Given the description of an element on the screen output the (x, y) to click on. 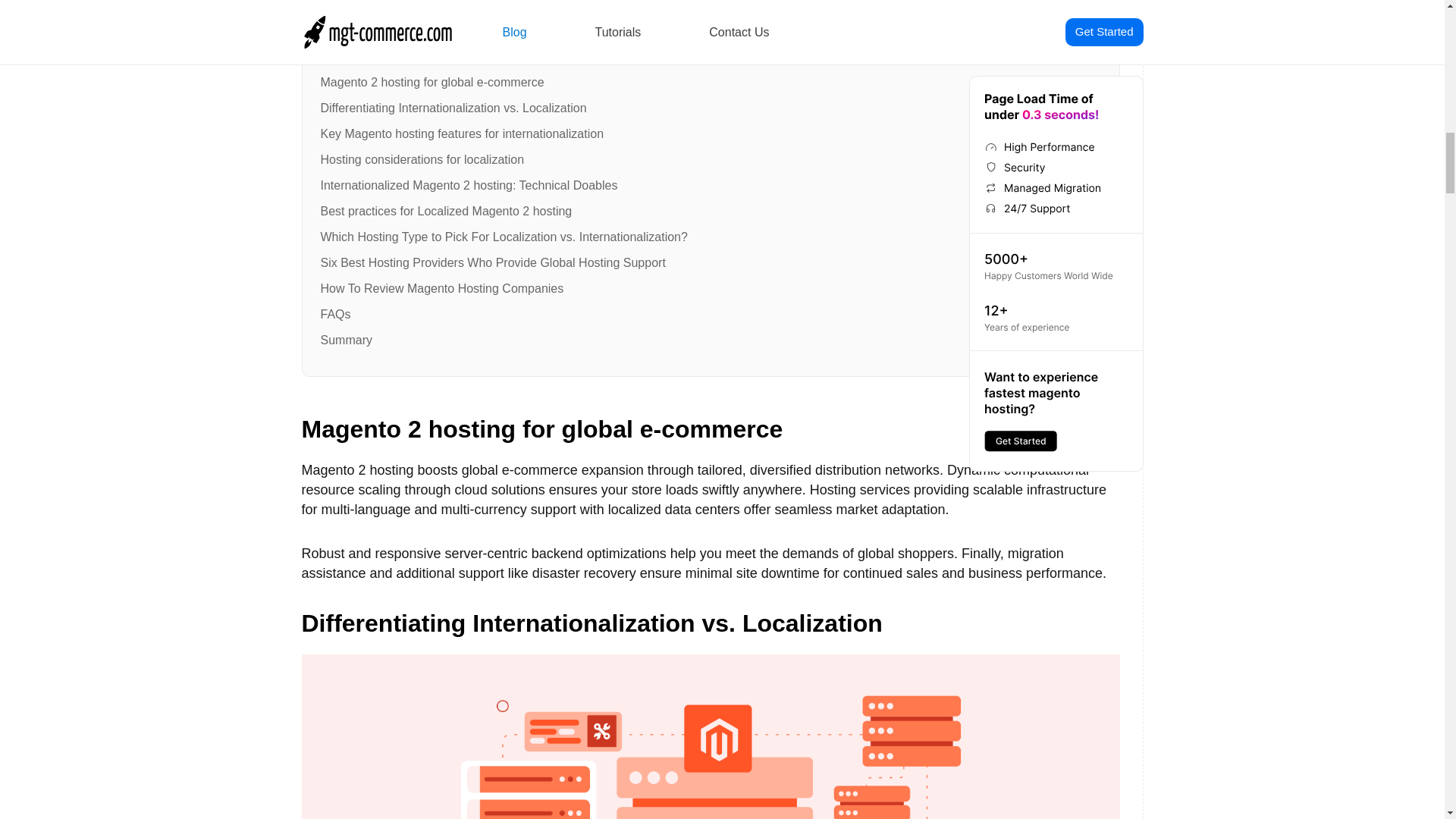
Summary (345, 339)
Internationalized Magento 2 hosting: Technical Doables (468, 185)
Differentiating Internationalization vs. Localization (453, 107)
How To Review Magento Hosting Companies (441, 287)
FAQs (335, 314)
Hosting considerations for localization (422, 159)
Best practices for Localized Magento 2 hosting (446, 210)
Key Magento hosting features for internationalization (462, 133)
